Given the description of an element on the screen output the (x, y) to click on. 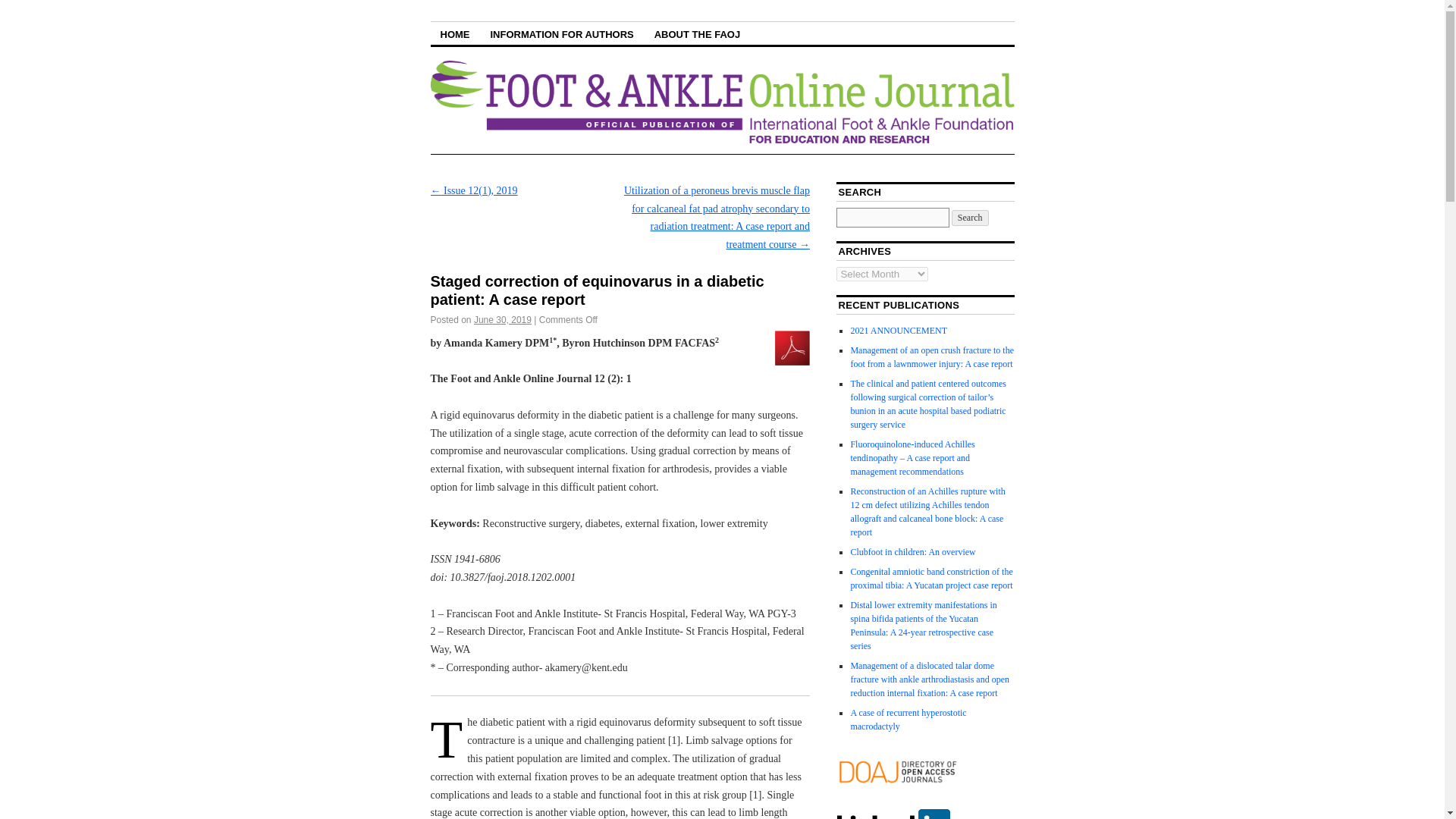
ABOUT THE FAOJ (697, 33)
Search (970, 217)
HOME (455, 33)
June 30, 2019 (502, 319)
2021 ANNOUNCEMENT (898, 330)
12:01 am (502, 319)
A case of recurrent hyperostotic macrodactyly (908, 719)
Search (970, 217)
Clubfoot in children: An overview (912, 552)
INFORMATION FOR AUTHORS (561, 33)
